Given the description of an element on the screen output the (x, y) to click on. 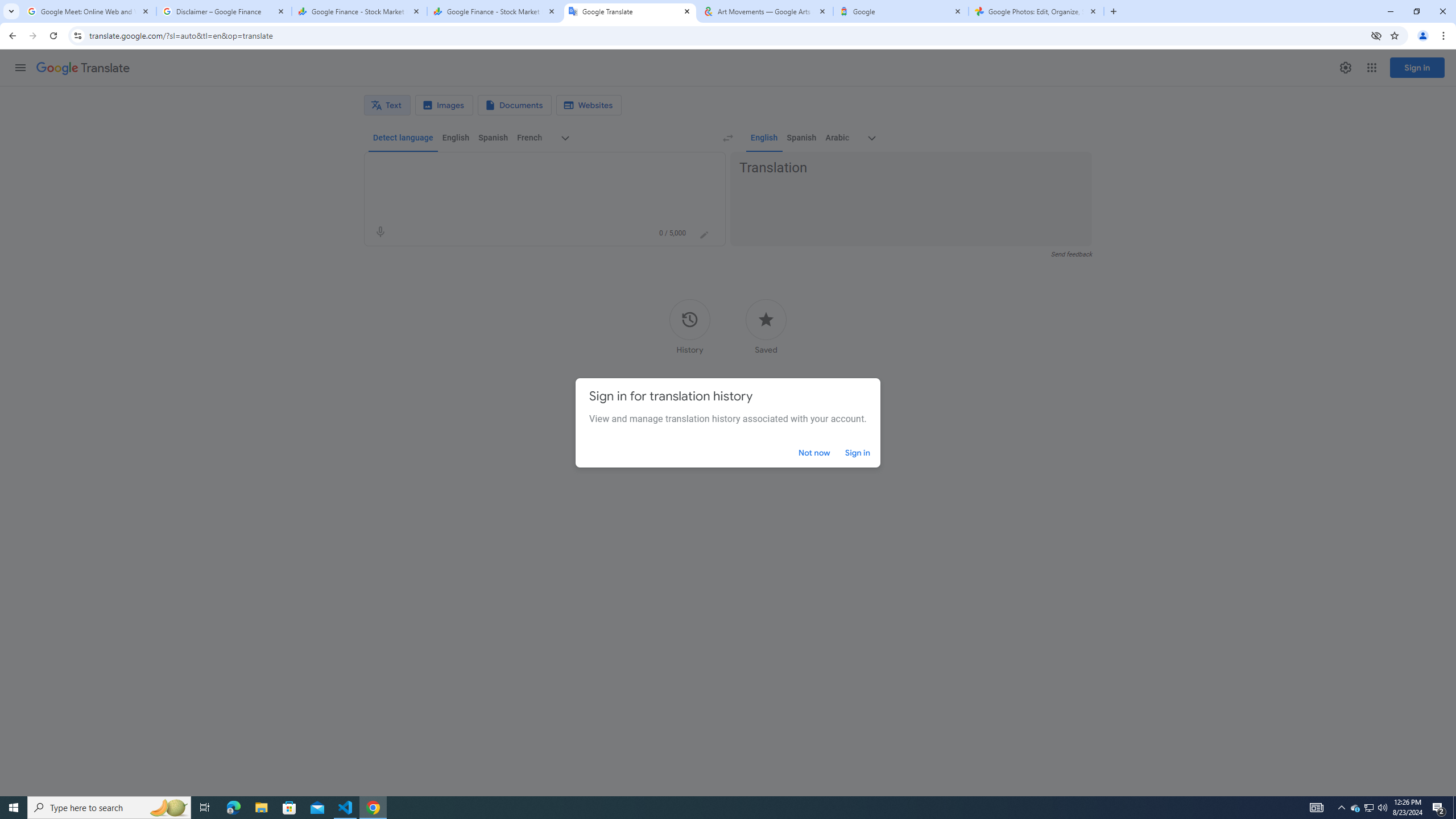
Google Translate (630, 11)
Google (901, 11)
